Given the description of an element on the screen output the (x, y) to click on. 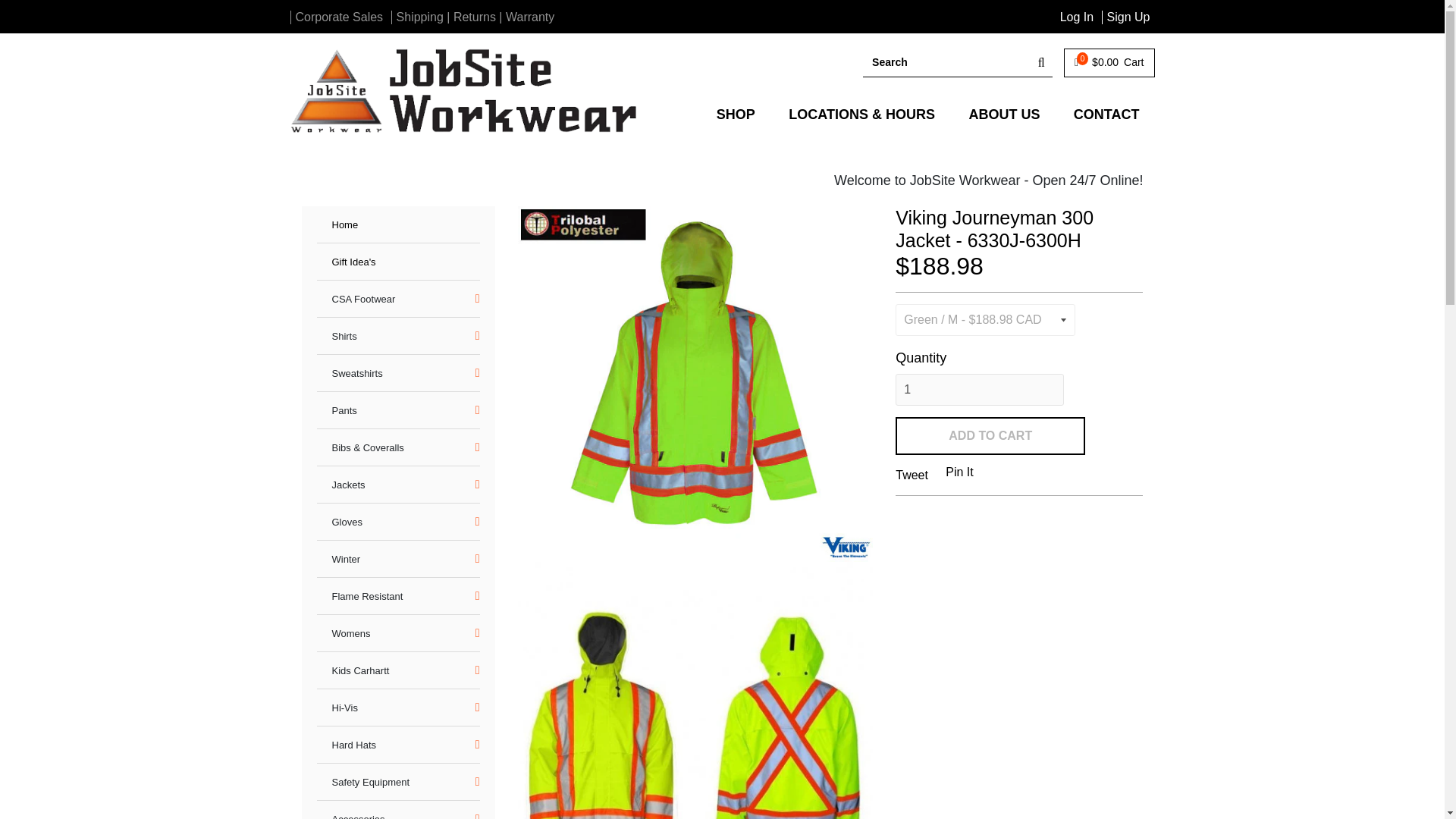
Home (344, 224)
Sweatshirts (356, 373)
CONTACT (1106, 114)
CSA Footwear (363, 298)
Gift Idea's (353, 261)
ABOUT US (1003, 114)
Log In (1076, 16)
1 (979, 389)
Corporate Sales (339, 16)
Shirts (343, 336)
Sign Up (1128, 16)
SHOP (735, 114)
